Given the description of an element on the screen output the (x, y) to click on. 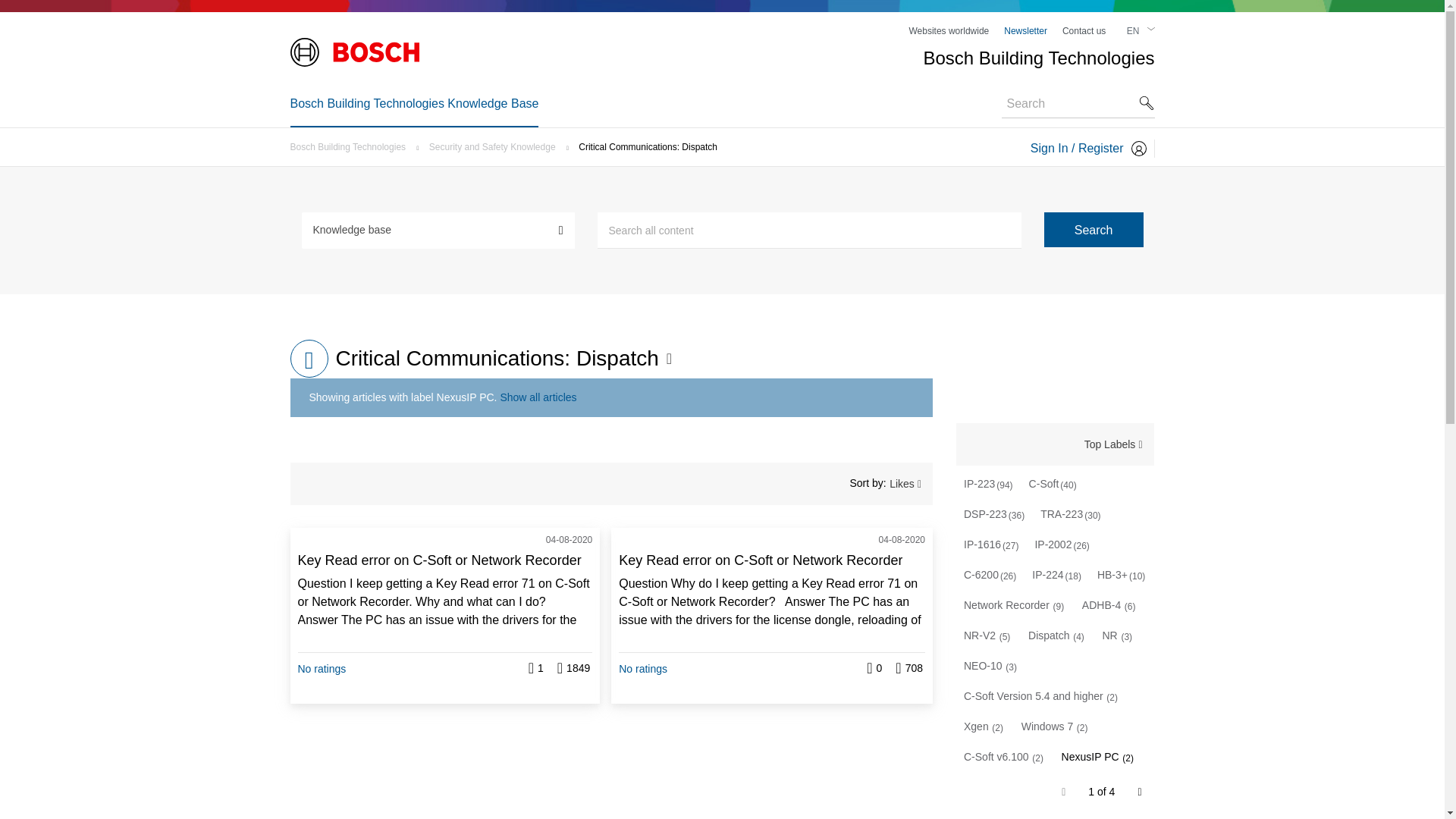
Search (809, 230)
Bosch Building Technologies Knowledge Base (413, 103)
Search (1092, 229)
Search Granularity (438, 229)
Websites worldwide (948, 30)
Icon arrow-down-thin (1150, 28)
Show option menu (911, 483)
Security and Safety Knowledge (496, 146)
Search (1092, 229)
Knowledge Base (308, 358)
Newsletter (1025, 30)
Show option menu (1112, 444)
Show option menu (667, 358)
Bosch Building Technologies (351, 146)
Contact us (1083, 30)
